Given the description of an element on the screen output the (x, y) to click on. 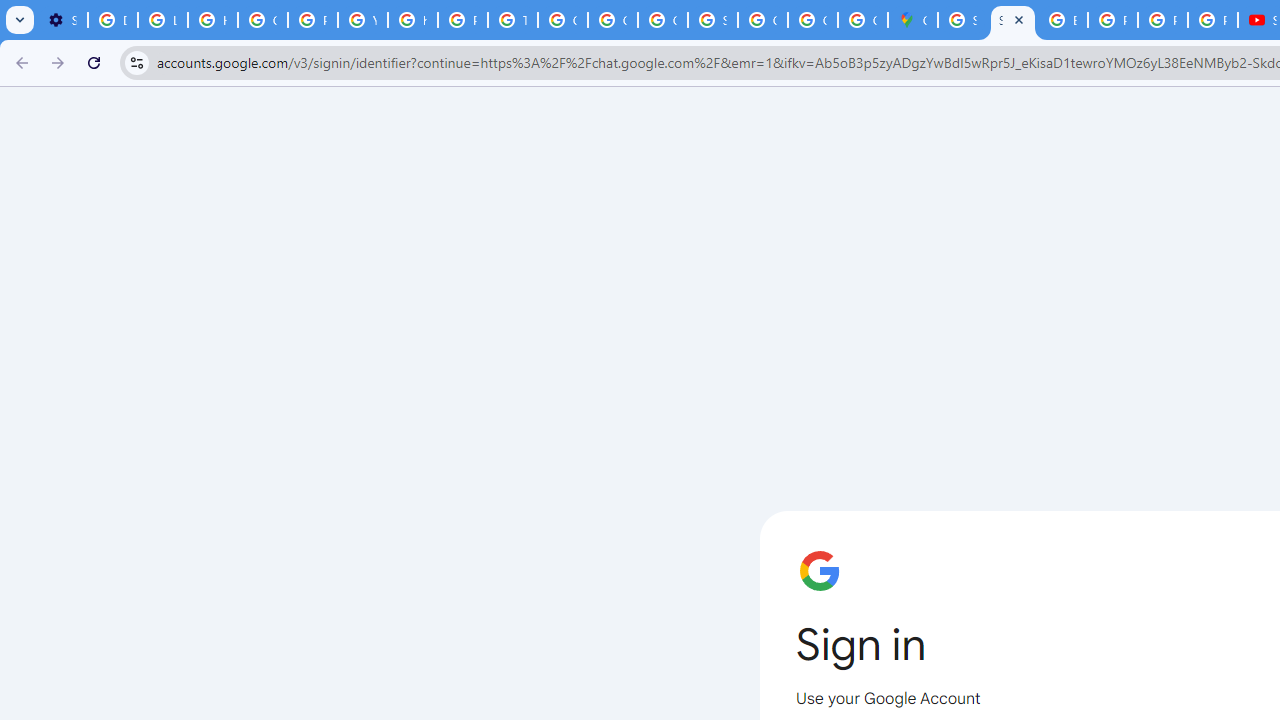
Blogger Policies and Guidelines - Transparency Center (1062, 20)
https://scholar.google.com/ (412, 20)
Google Account Help (262, 20)
Privacy Help Center - Policies Help (312, 20)
Sign in - Google Accounts (1013, 20)
Privacy Help Center - Policies Help (1112, 20)
Privacy Help Center - Policies Help (462, 20)
Learn how to find your photos - Google Photos Help (163, 20)
